Given the description of an element on the screen output the (x, y) to click on. 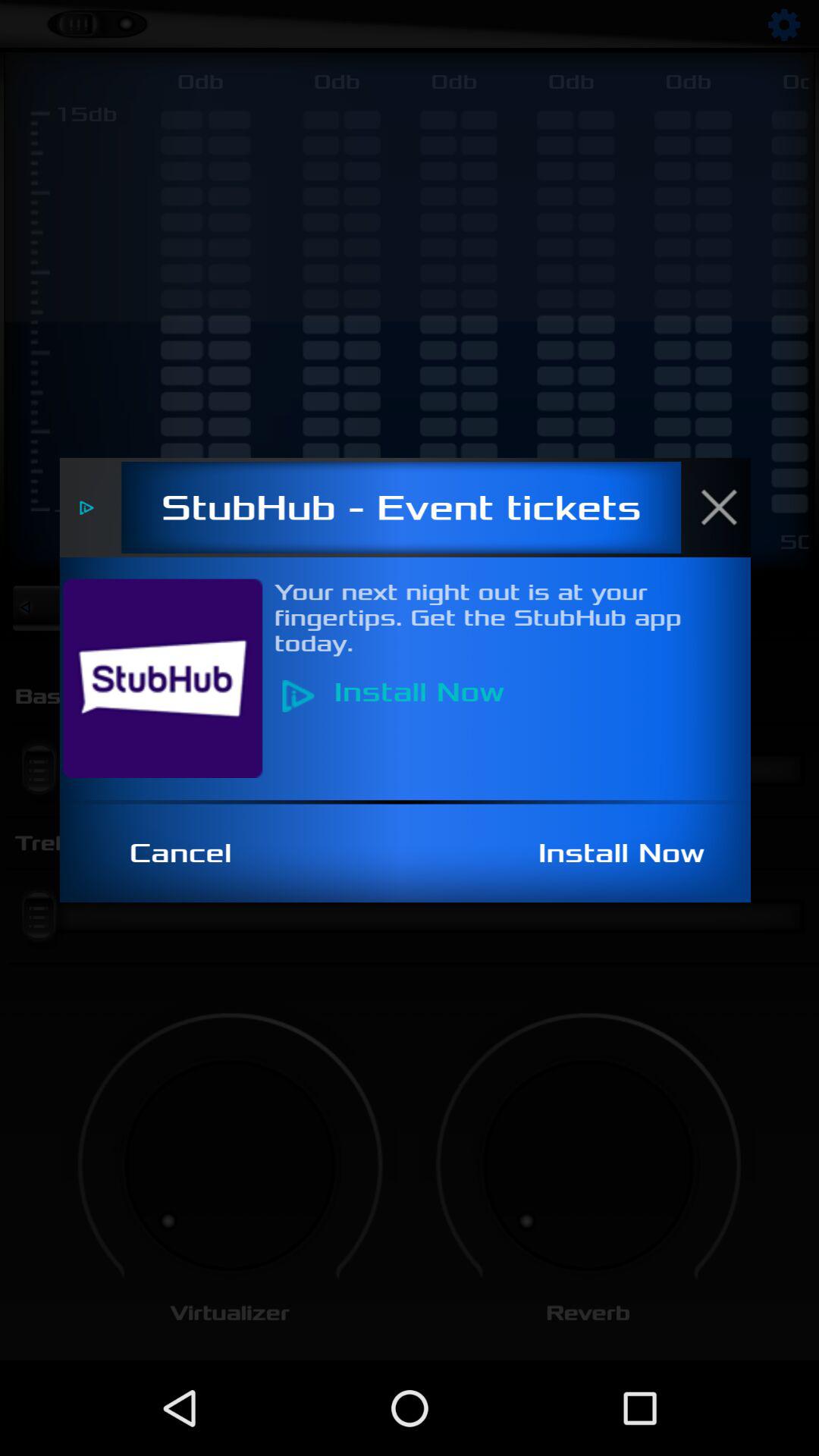
open item above the your next night item (727, 507)
